Given the description of an element on the screen output the (x, y) to click on. 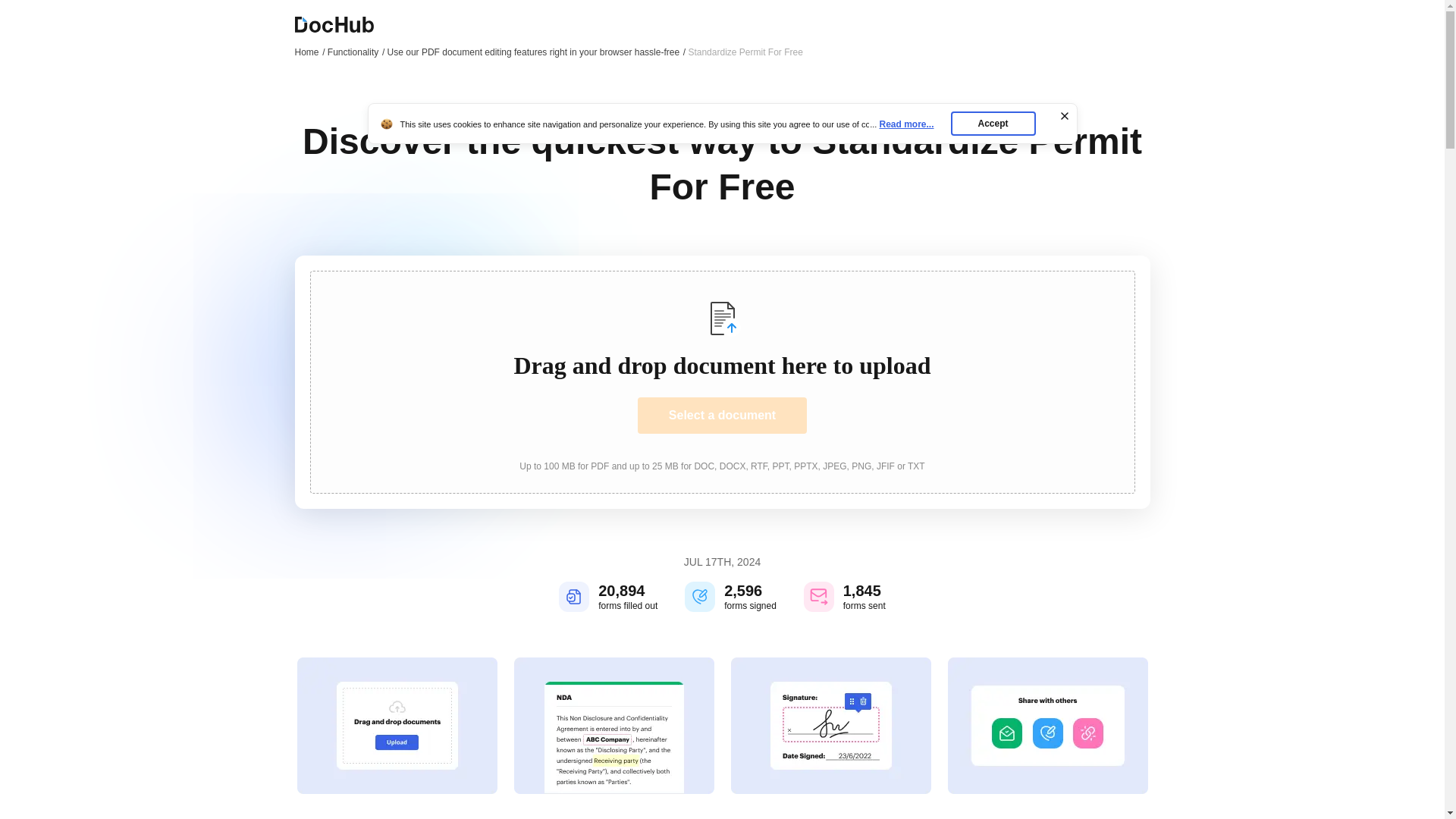
Functionality (355, 51)
Select a document (721, 415)
Home (309, 51)
